Given the description of an element on the screen output the (x, y) to click on. 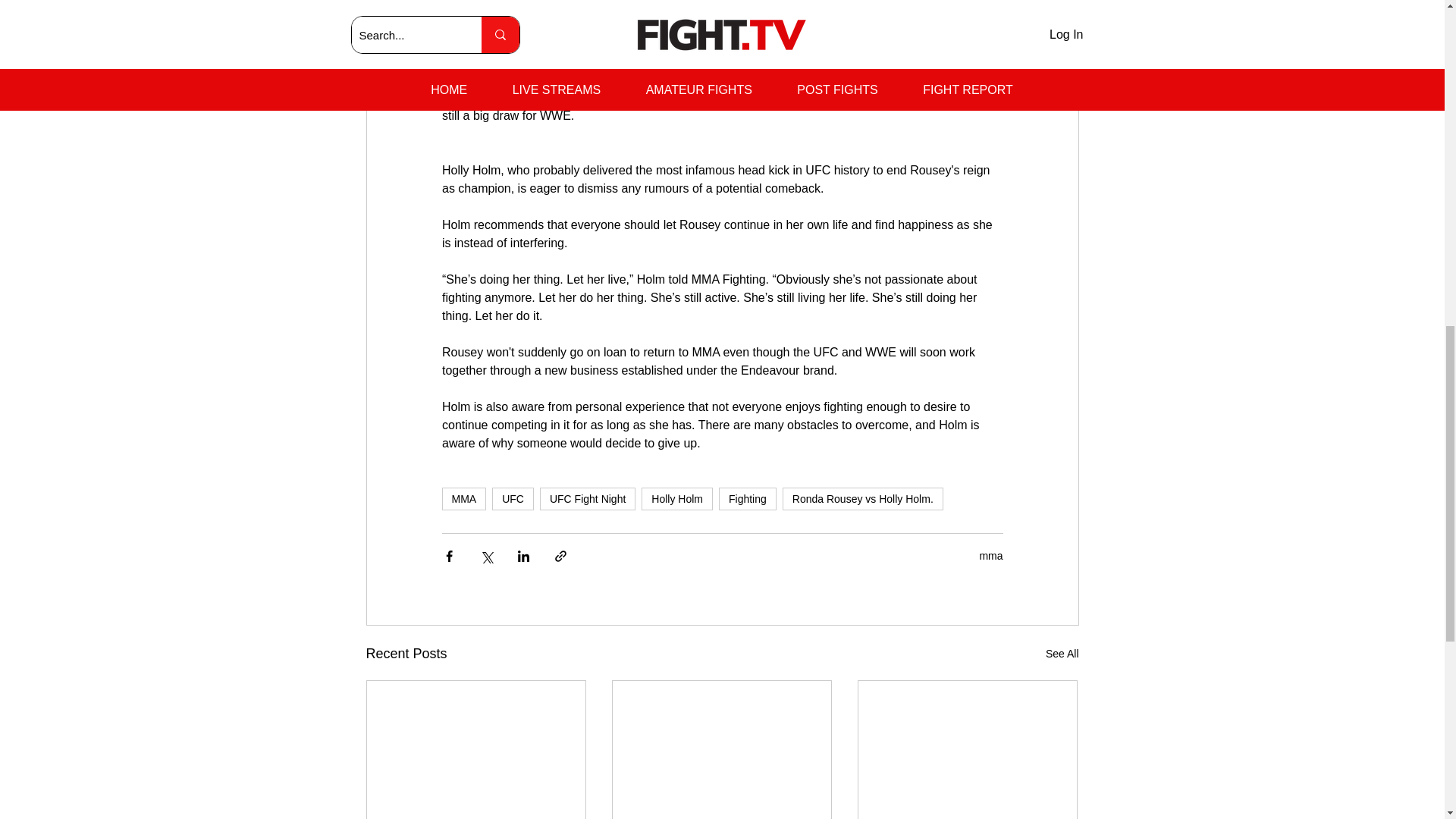
mma (990, 555)
Ronda Rousey vs Holly Holm. (863, 498)
See All (1061, 653)
UFC (513, 498)
UFC Fight Night (587, 498)
MMA (463, 498)
Holly Holm (677, 498)
Fighting (747, 498)
